Given the description of an element on the screen output the (x, y) to click on. 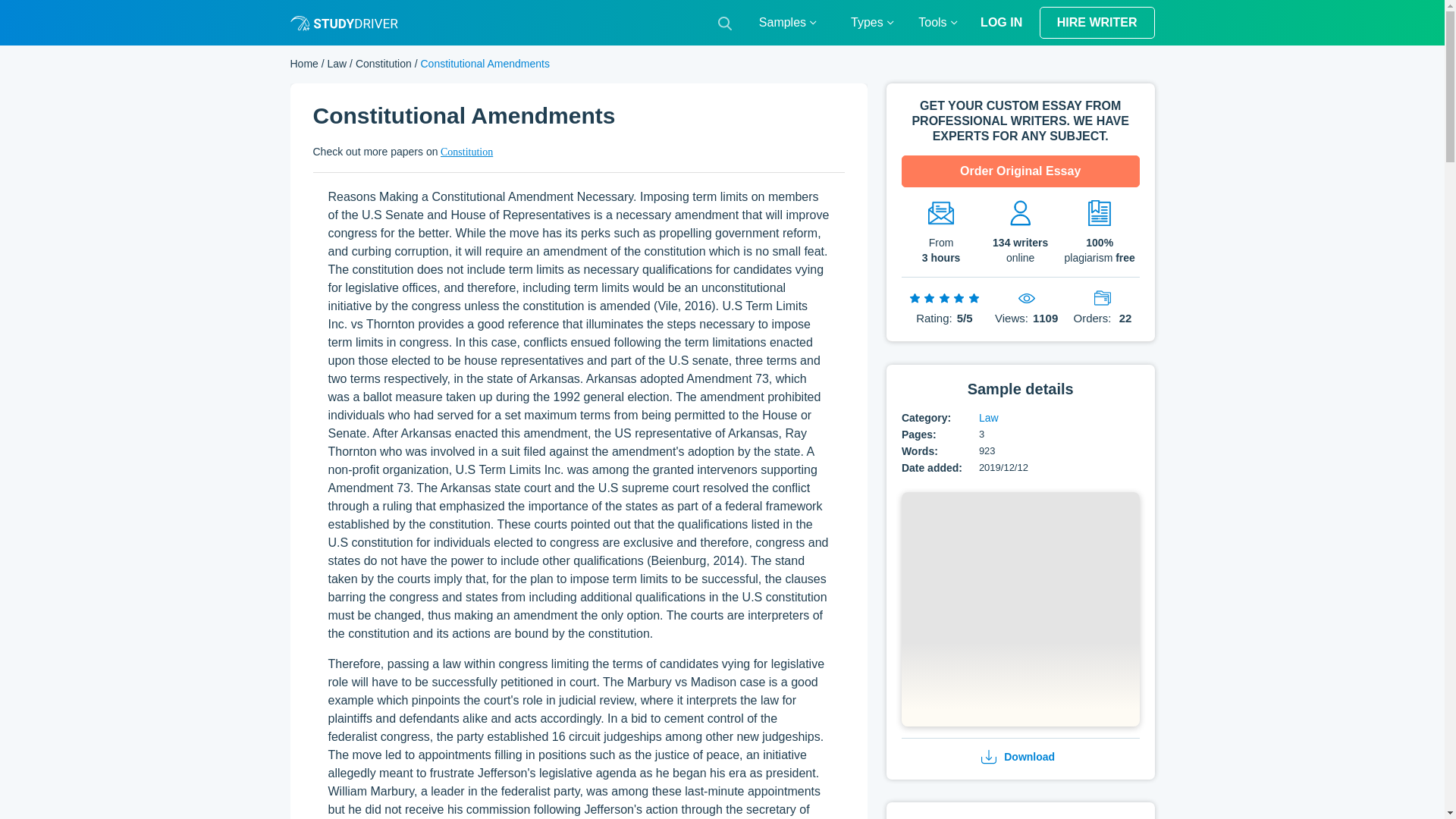
Constitutional Amendments (1020, 611)
